Given the description of an element on the screen output the (x, y) to click on. 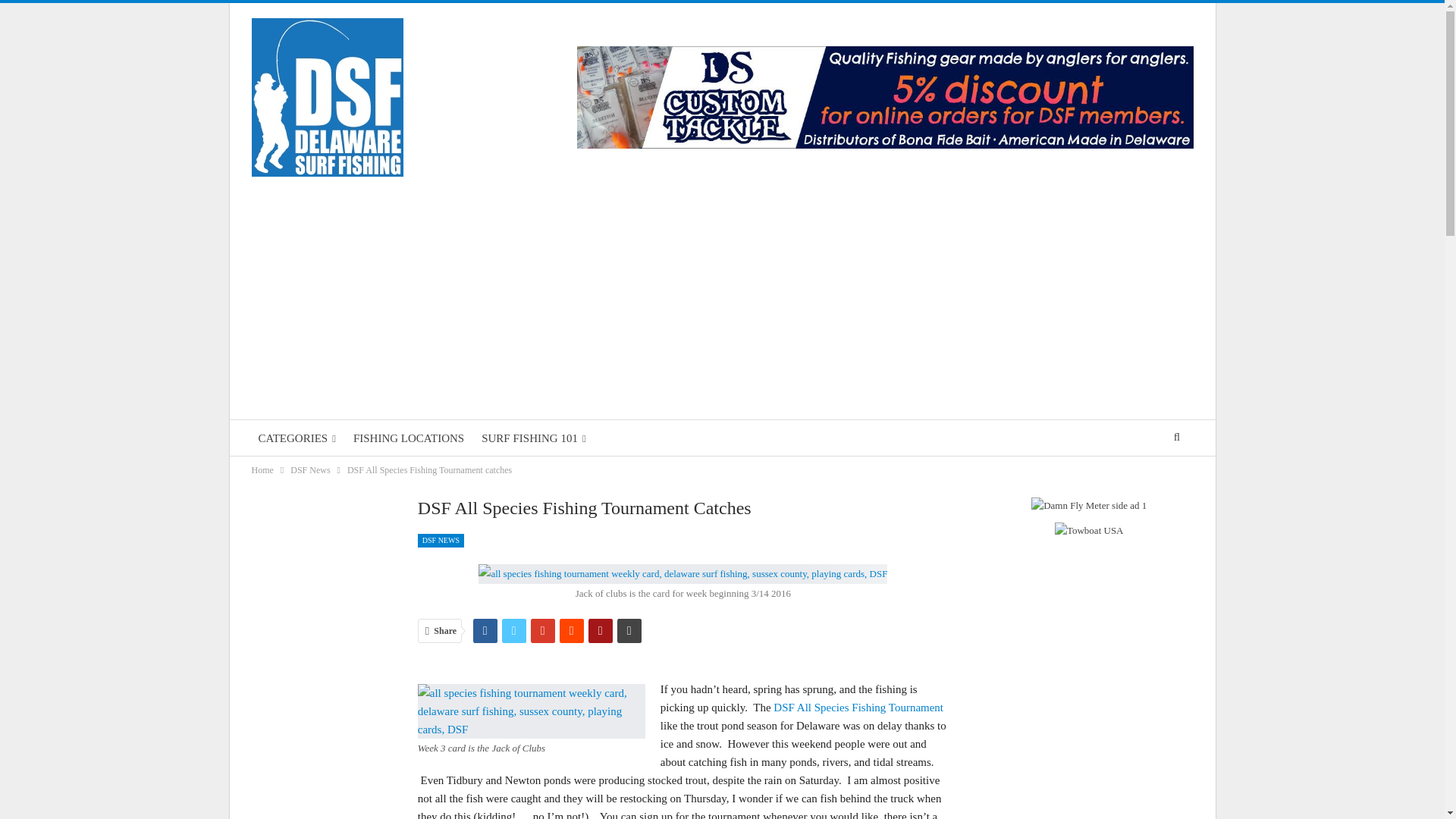
DSF All Species Fishing Tournament (858, 707)
CATEGORIES (296, 438)
Home (262, 469)
DSF News (309, 469)
SURF FISHING 101 (533, 438)
DSF NEWS (440, 540)
DSF all species fishing tournament  (858, 707)
FISHING LOCATIONS (408, 438)
